Given the description of an element on the screen output the (x, y) to click on. 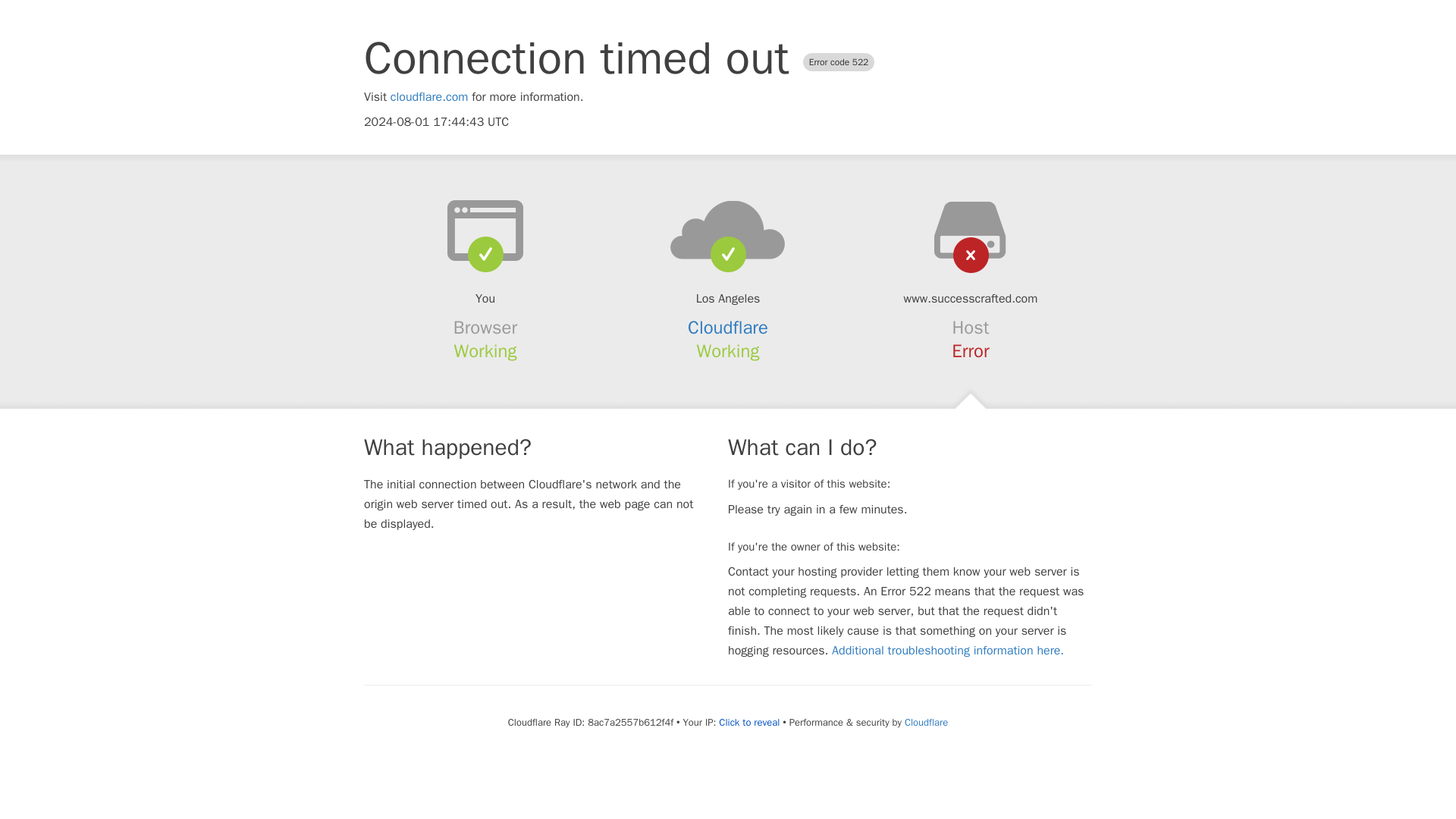
Cloudflare (727, 327)
Cloudflare (925, 721)
cloudflare.com (429, 96)
Additional troubleshooting information here. (947, 650)
Click to reveal (748, 722)
